Given the description of an element on the screen output the (x, y) to click on. 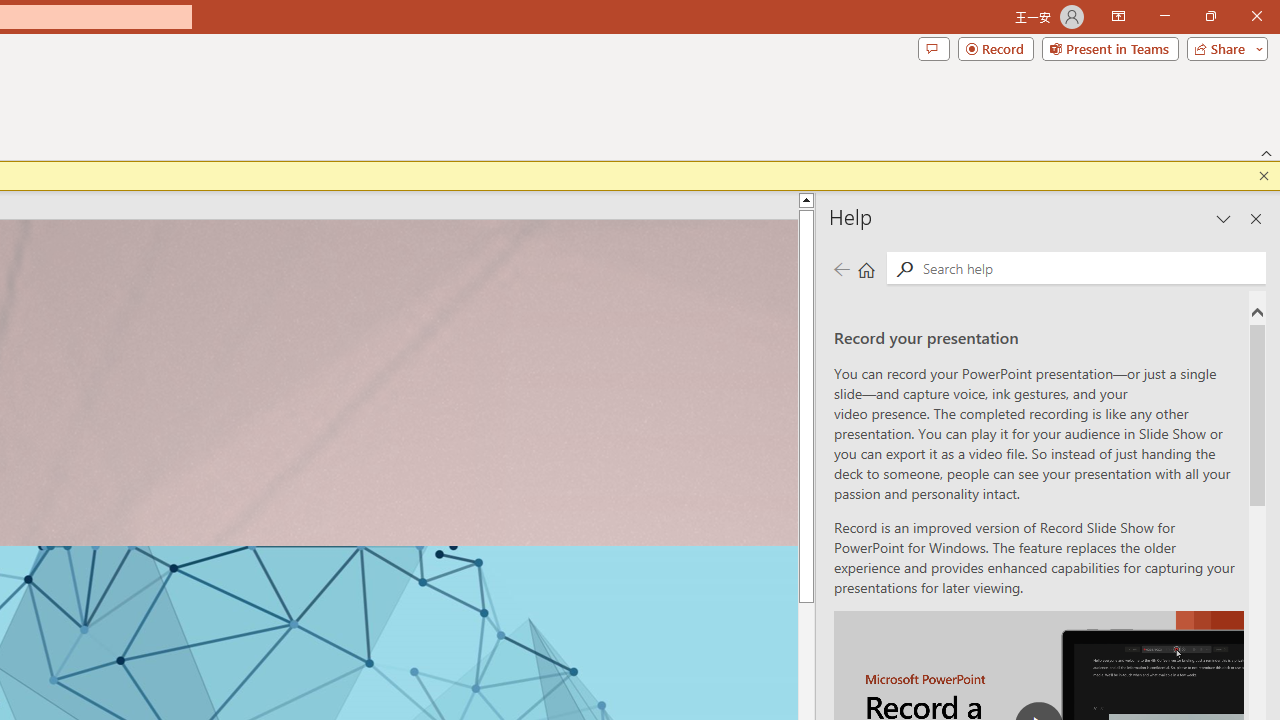
Close this message (1263, 176)
Previous page (841, 269)
